Given the description of an element on the screen output the (x, y) to click on. 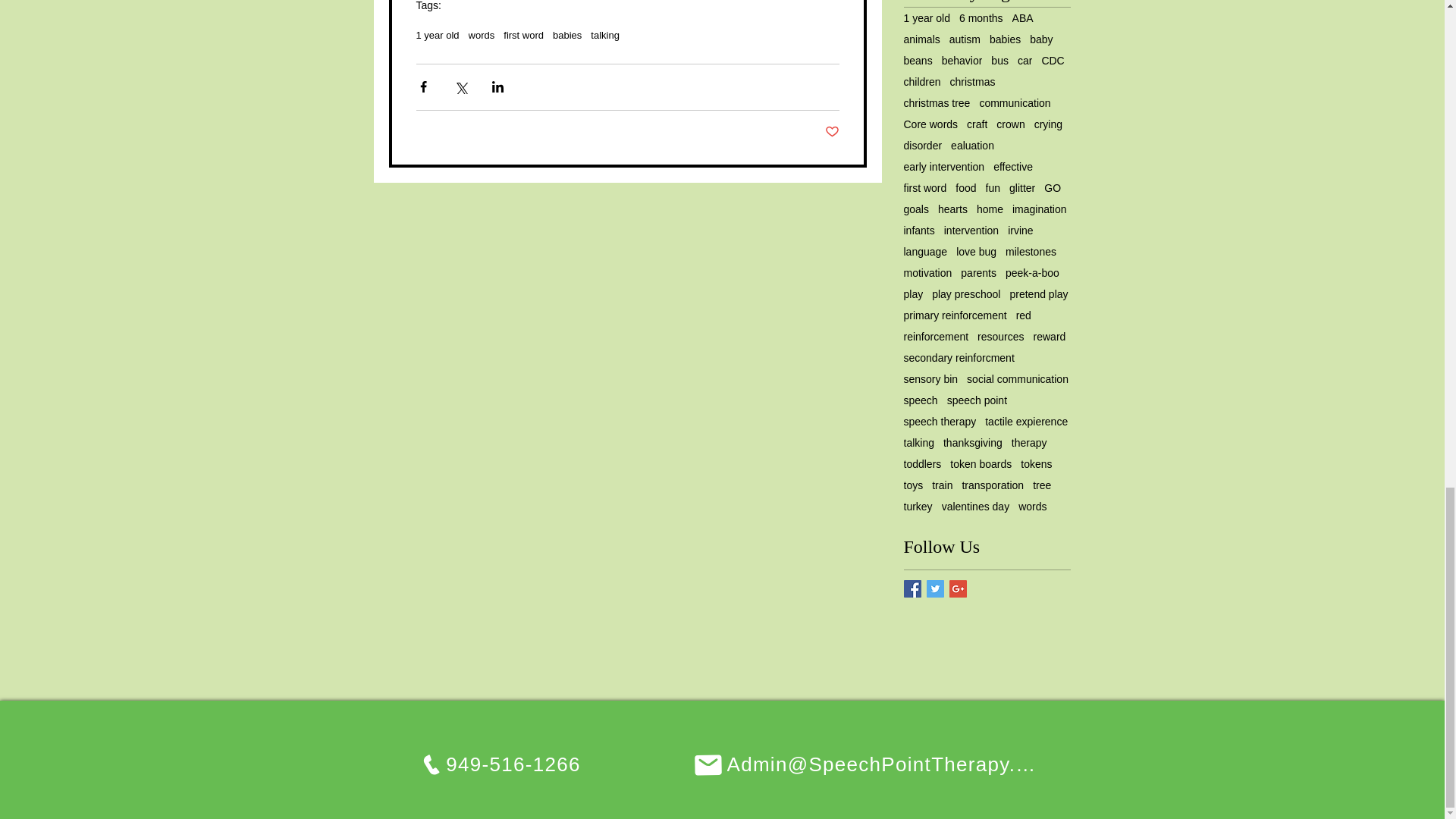
talking (605, 34)
first word (523, 34)
babies (1005, 39)
1 year old (927, 18)
animals (922, 39)
babies (566, 34)
autism (964, 39)
6 months (981, 18)
1 year old (436, 34)
ABA (1022, 18)
